Given the description of an element on the screen output the (x, y) to click on. 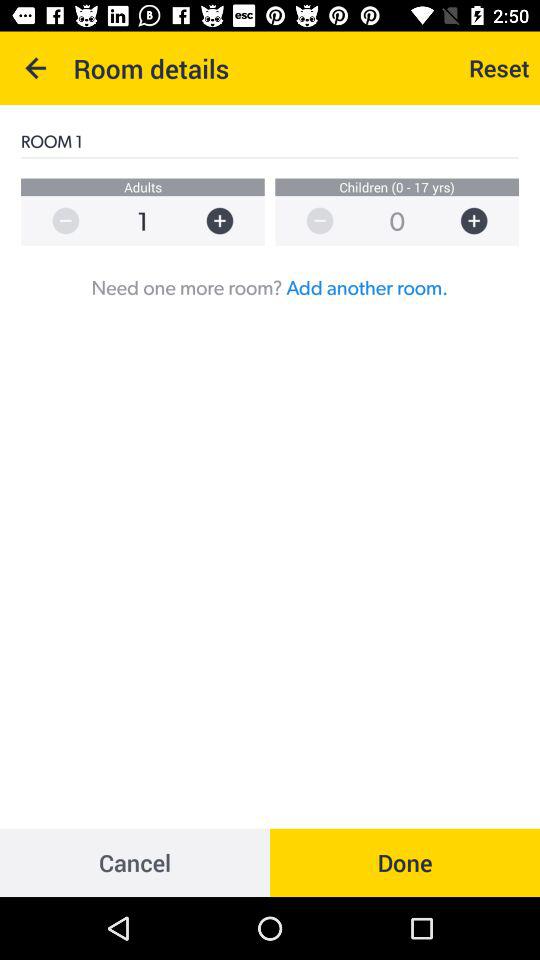
swipe to done (405, 862)
